Given the description of an element on the screen output the (x, y) to click on. 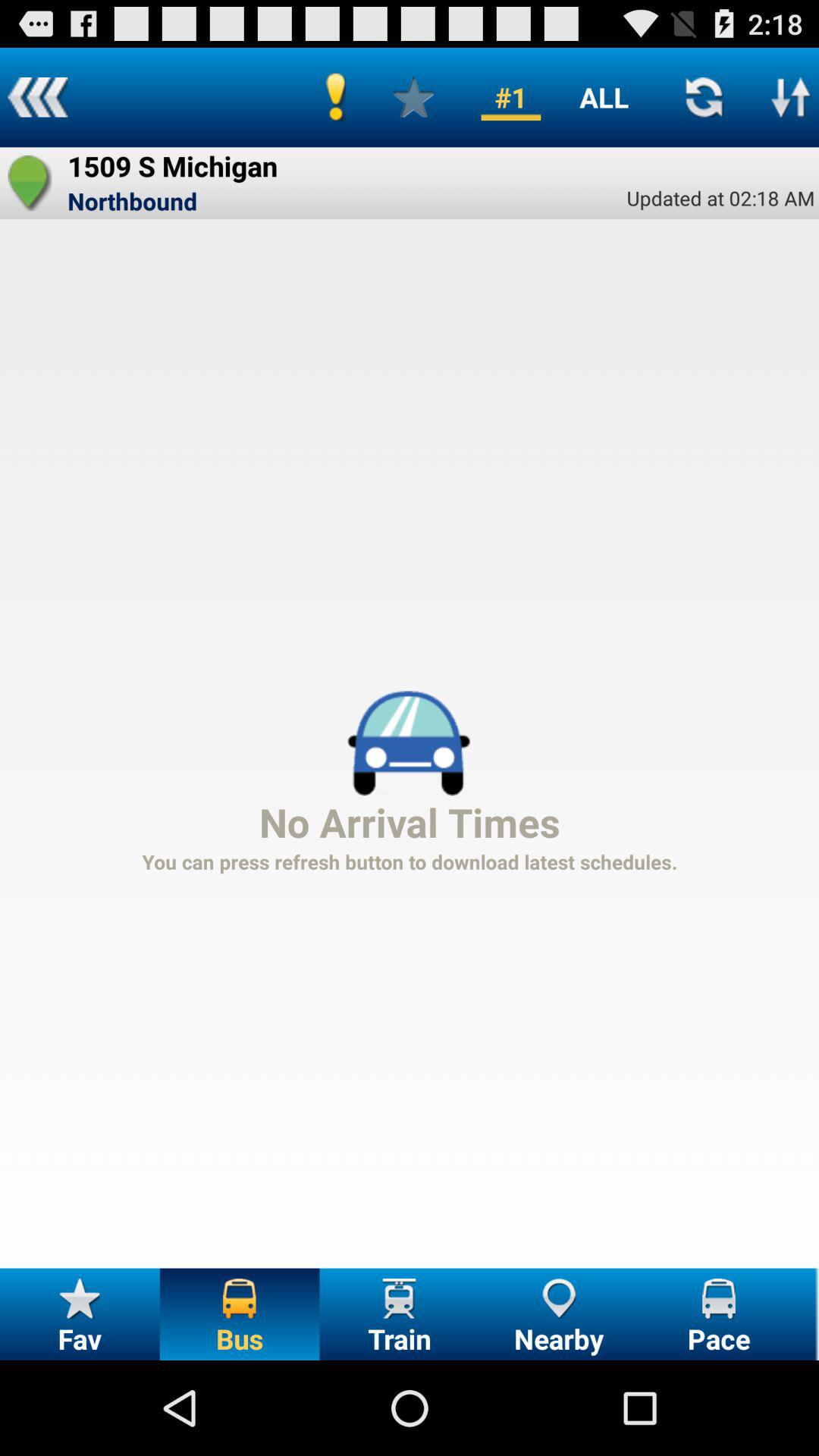
location pin (29, 183)
